Given the description of an element on the screen output the (x, y) to click on. 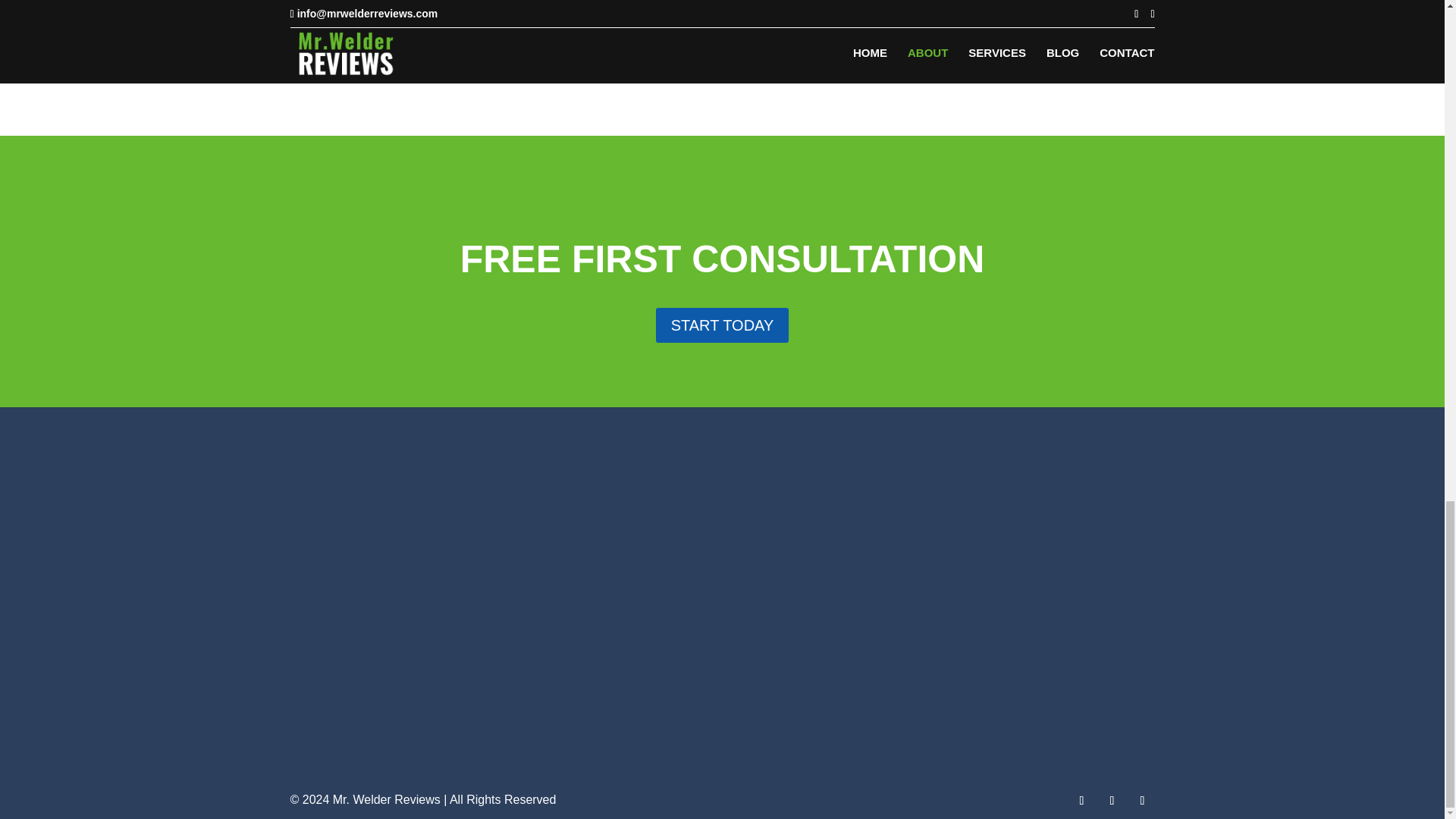
Follow on X (1111, 800)
Follow on google-plus (1141, 800)
Follow on Facebook (1080, 800)
START TODAY (722, 325)
